Given the description of an element on the screen output the (x, y) to click on. 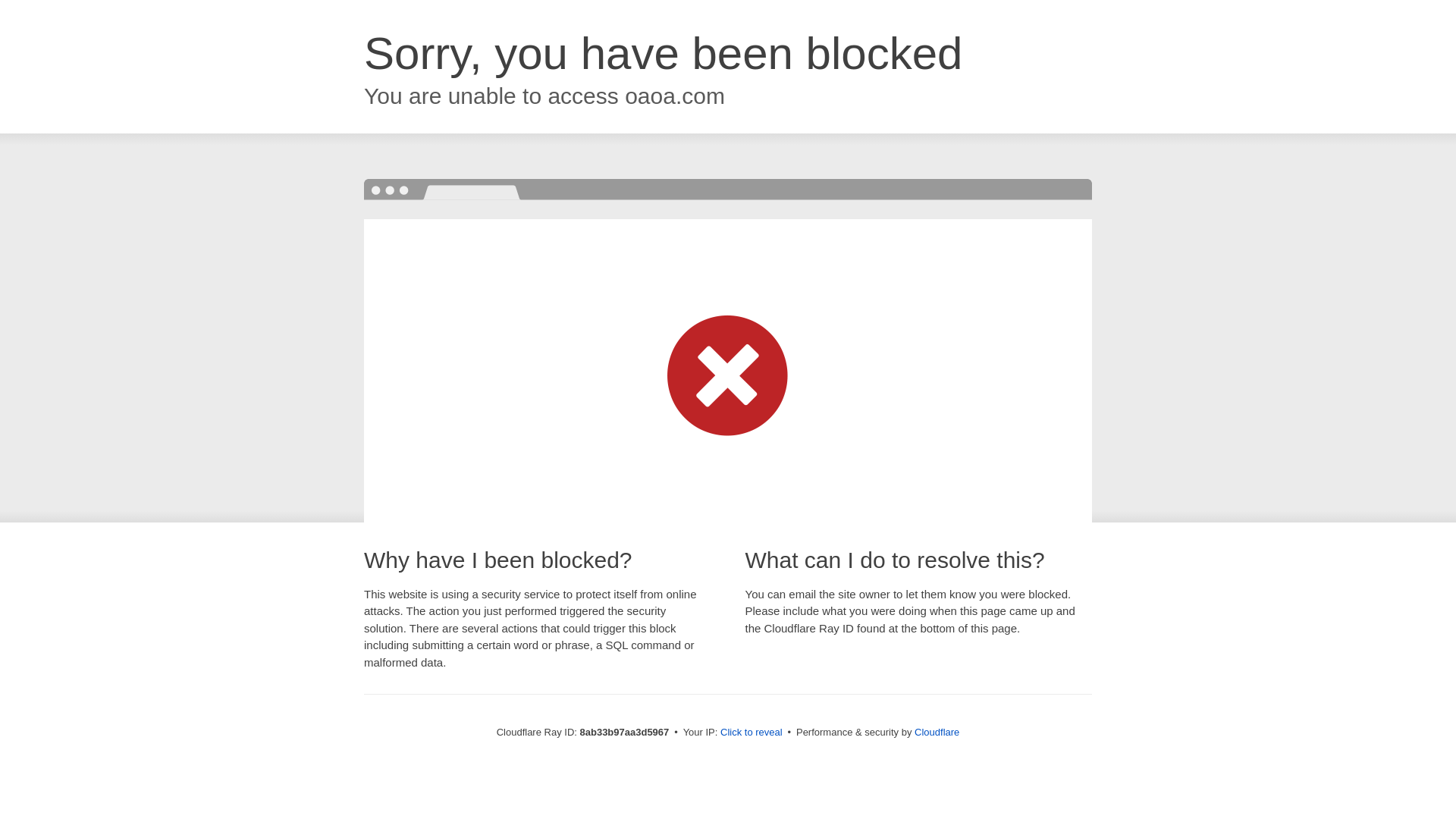
Click to reveal (751, 732)
Cloudflare (936, 731)
